Given the description of an element on the screen output the (x, y) to click on. 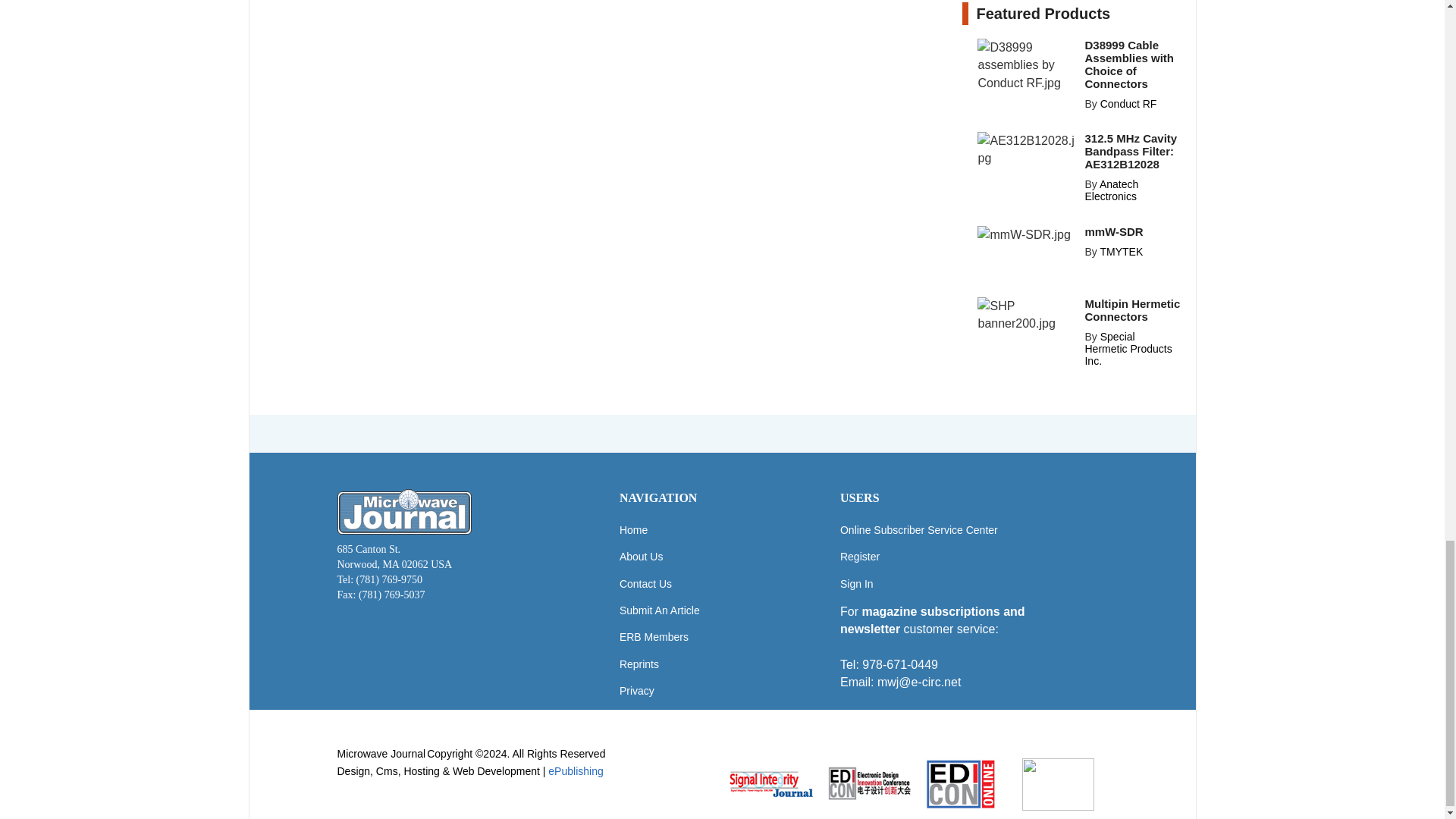
D38999 assemblies by Conduct RF.jpg (1025, 64)
SHP banner200.jpg (1025, 314)
mmW-SDR.jpg (1023, 234)
AE312B12028.jpg (1025, 149)
